Given the description of an element on the screen output the (x, y) to click on. 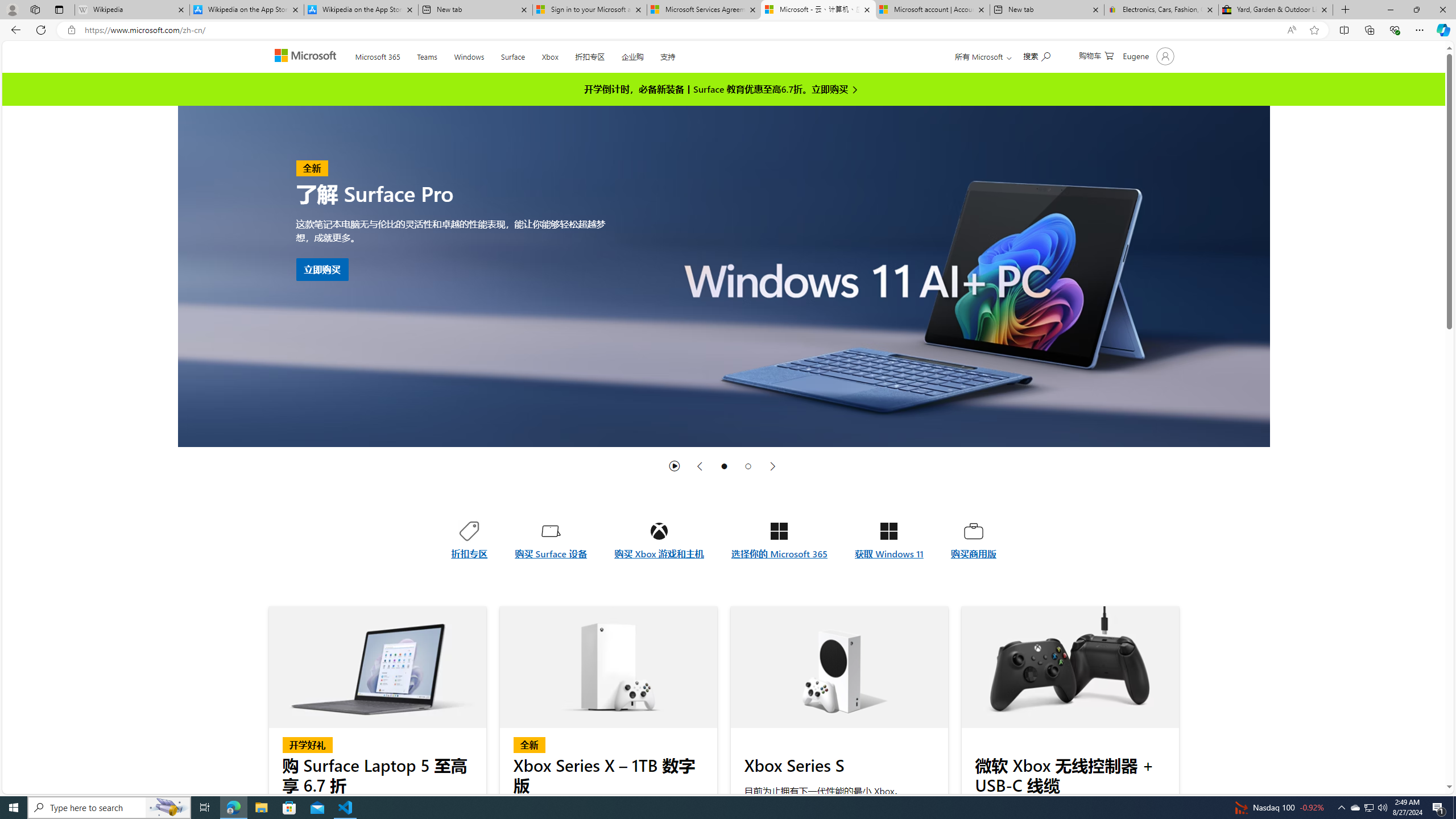
Microsoft (306, 56)
Surface (512, 54)
Surface (512, 54)
Microsoft account | Account Checkup (932, 9)
